Given the description of an element on the screen output the (x, y) to click on. 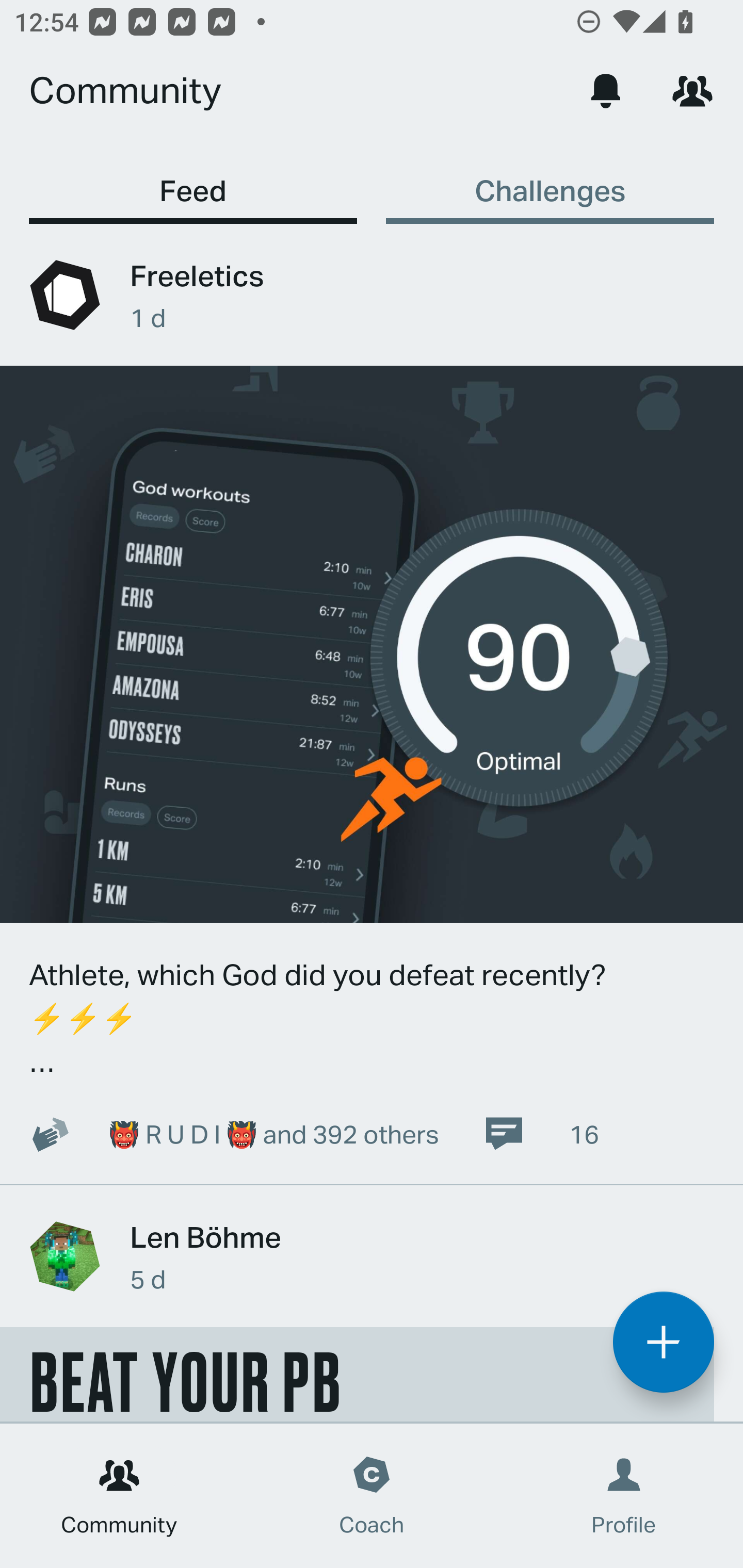
Notifications (605, 90)
Network (692, 90)
Feed (192, 180)
Challenges (549, 180)
👹 R U D I 👹 and 392 others (223, 1133)
16 (540, 1133)
BEAT YOUR PB (357, 1374)
Coach (371, 1495)
Profile (624, 1495)
